Given the description of an element on the screen output the (x, y) to click on. 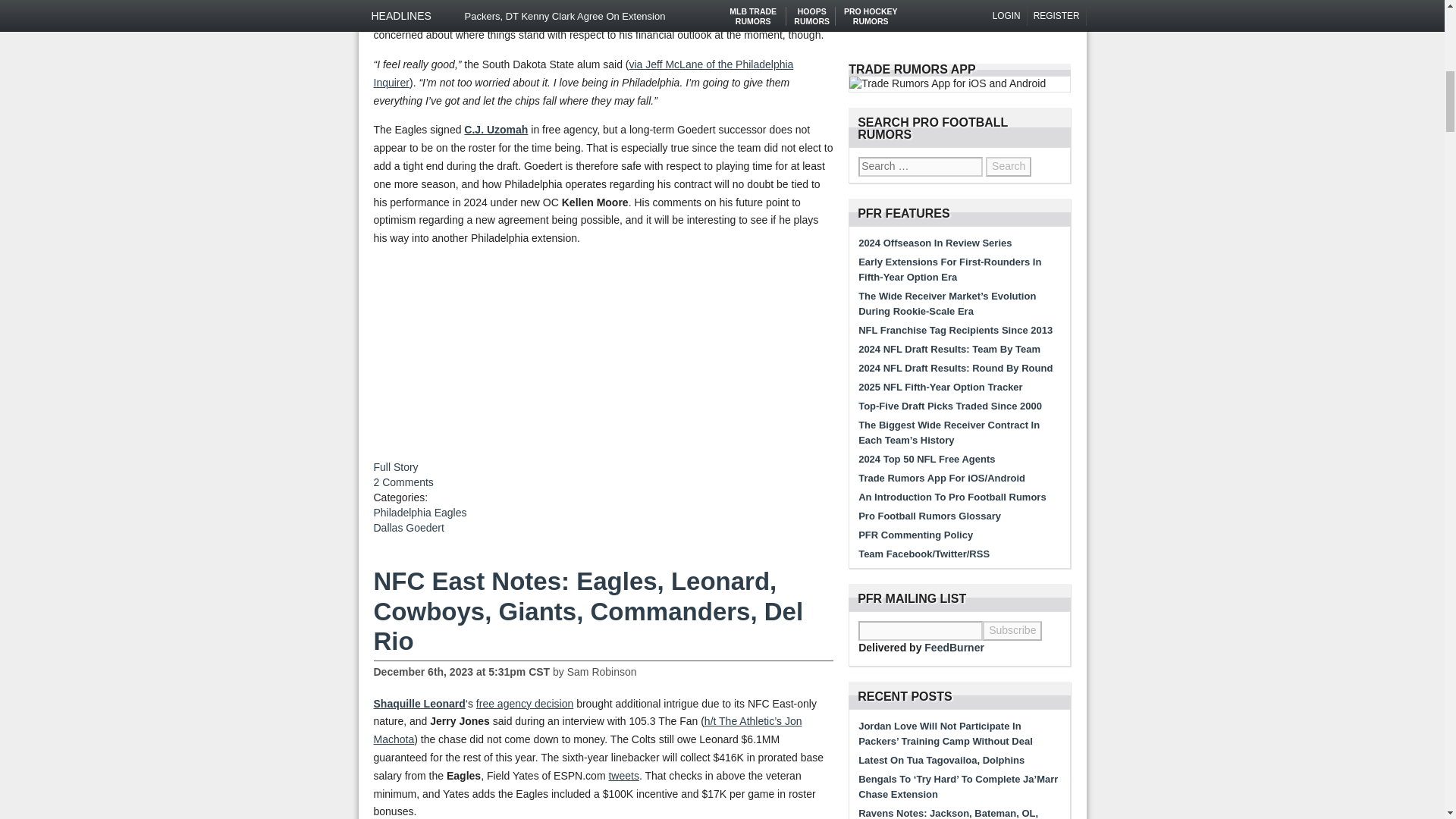
Subscribe (1012, 630)
Search (1007, 166)
View all posts in Dallas Goedert (408, 527)
View all posts in Philadelphia Eagles (418, 512)
